Given the description of an element on the screen output the (x, y) to click on. 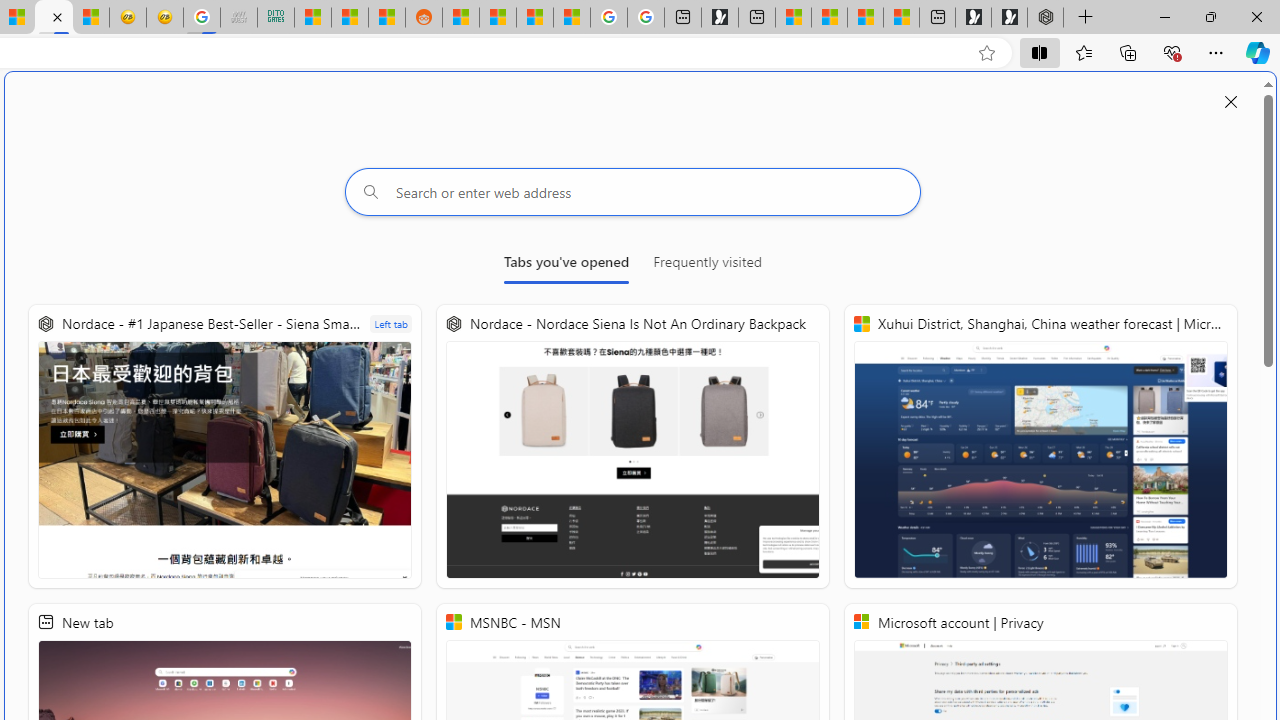
Microsoft Start Gaming (719, 17)
MSN (386, 17)
Split screen (1039, 52)
MSNBC - MSN (312, 17)
New Tab (1085, 17)
Close tab (57, 16)
